Given the description of an element on the screen output the (x, y) to click on. 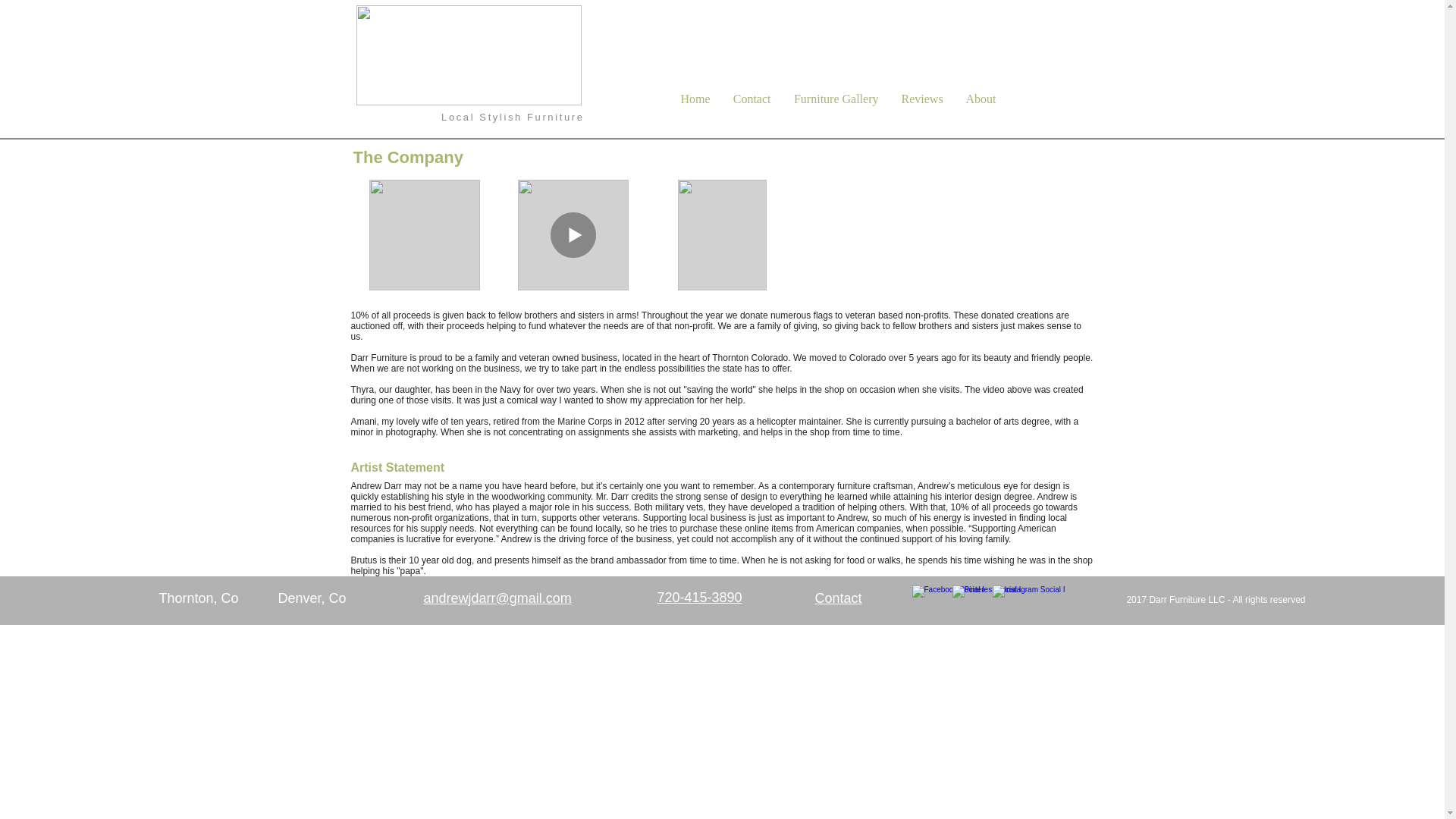
Contact (837, 597)
720-415-3890 (698, 597)
Local Stylish Furniture (512, 116)
